Given the description of an element on the screen output the (x, y) to click on. 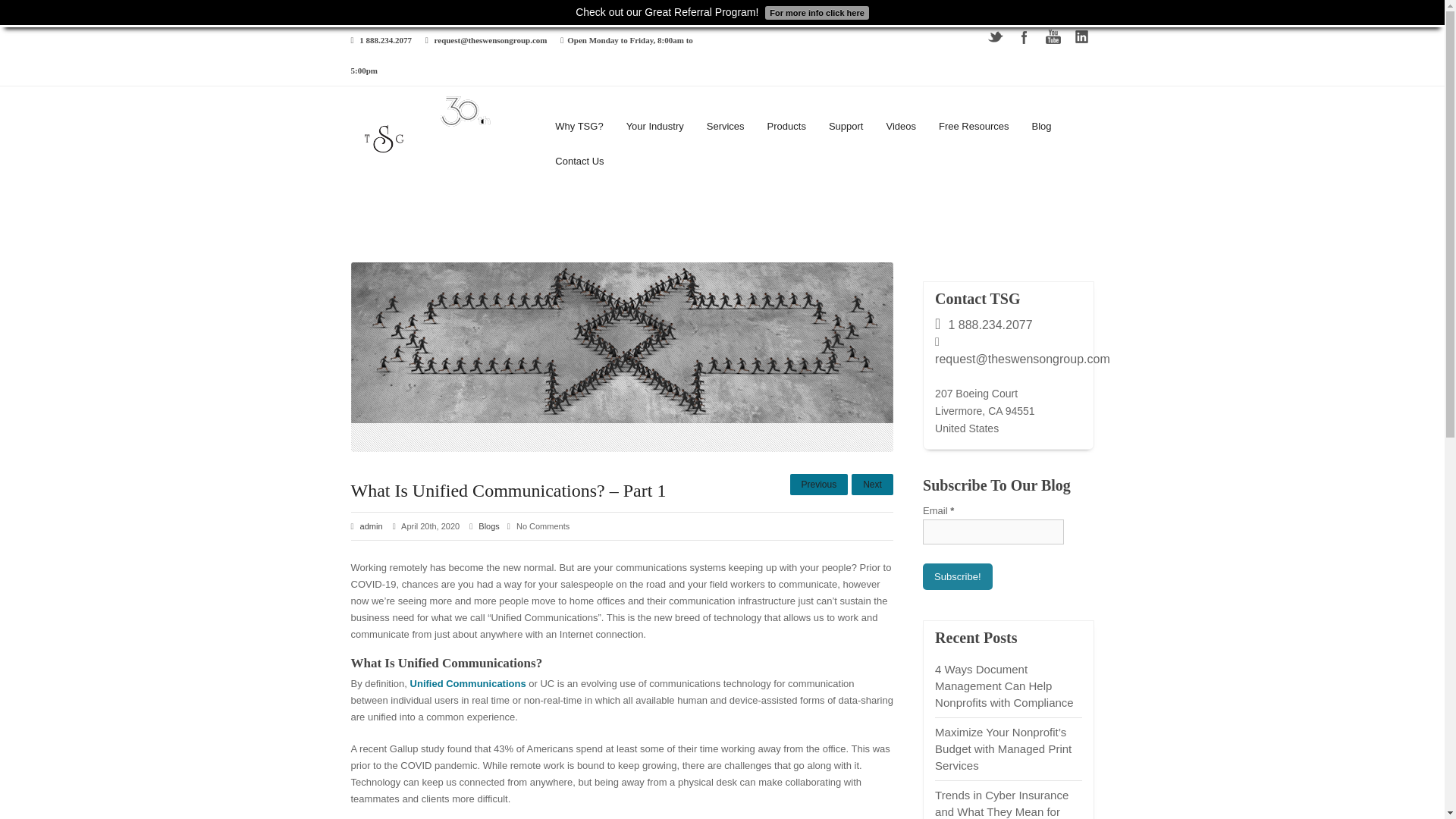
Subscribe! (957, 576)
For more info click here (815, 11)
Email (993, 531)
Posts by admin (370, 525)
